Given the description of an element on the screen output the (x, y) to click on. 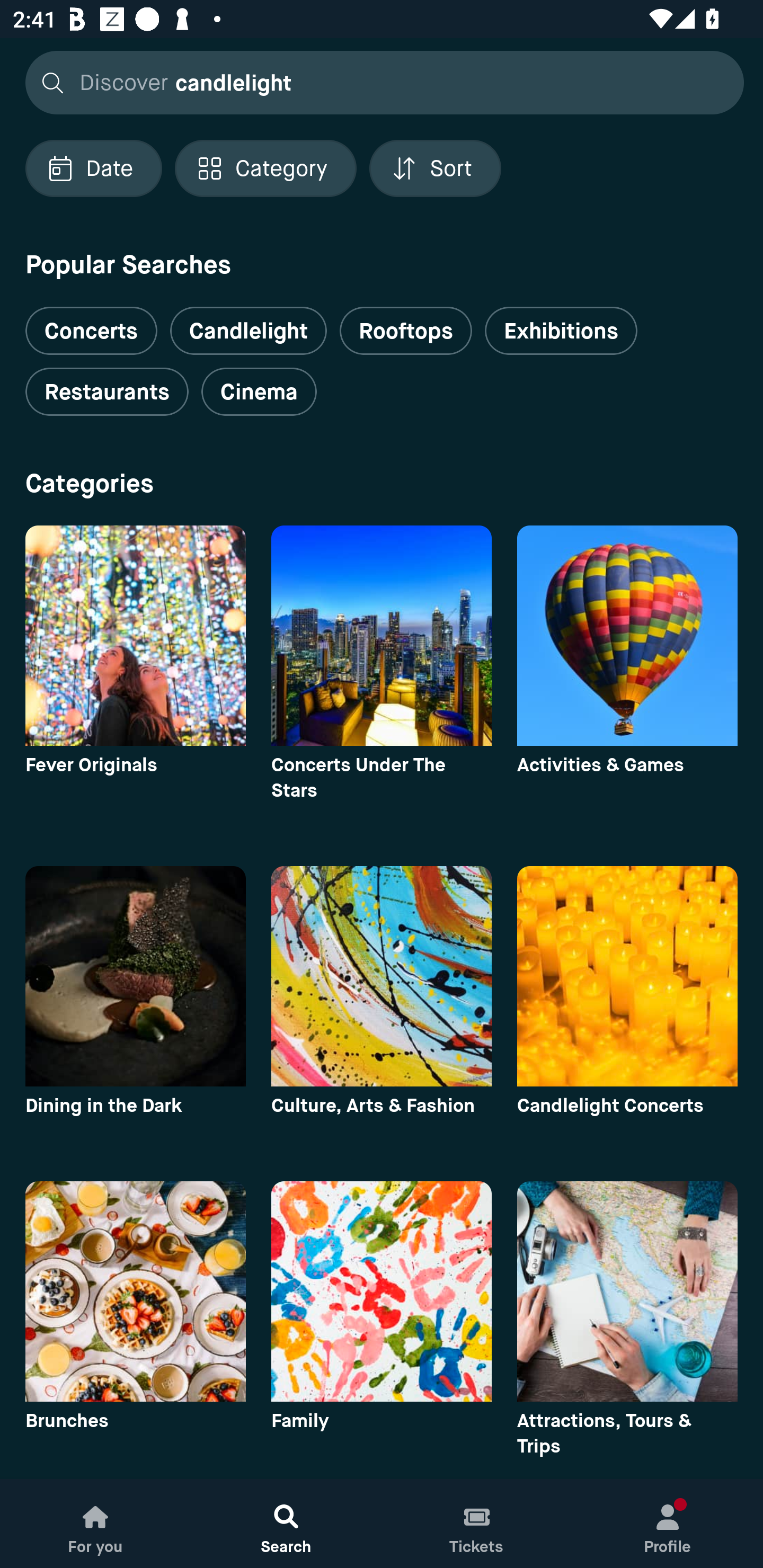
Discover candlelight (379, 81)
Localized description Date (93, 168)
Localized description Category (265, 168)
Localized description Sort (435, 168)
Concerts (91, 323)
Candlelight (248, 330)
Rooftops (405, 330)
Exhibitions (560, 330)
Restaurants (106, 391)
Cinema (258, 391)
category image (135, 635)
category image (381, 635)
category image (627, 635)
category image (135, 975)
category image (381, 975)
category image (627, 975)
category image (135, 1290)
category image (381, 1290)
category image (627, 1290)
For you (95, 1523)
Tickets (476, 1523)
Profile, New notification Profile (667, 1523)
